Given the description of an element on the screen output the (x, y) to click on. 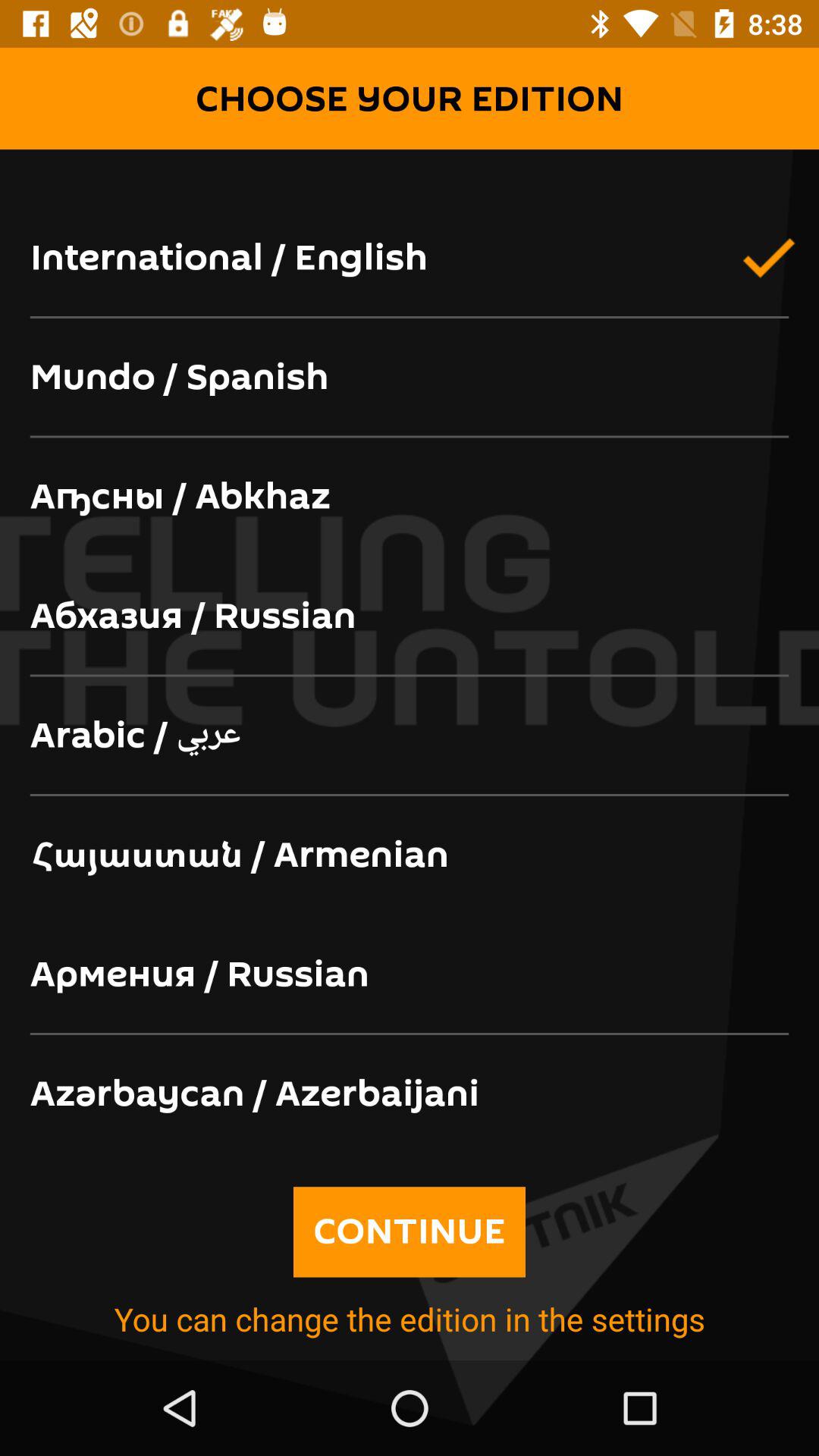
jump to international / english app (409, 258)
